Given the description of an element on the screen output the (x, y) to click on. 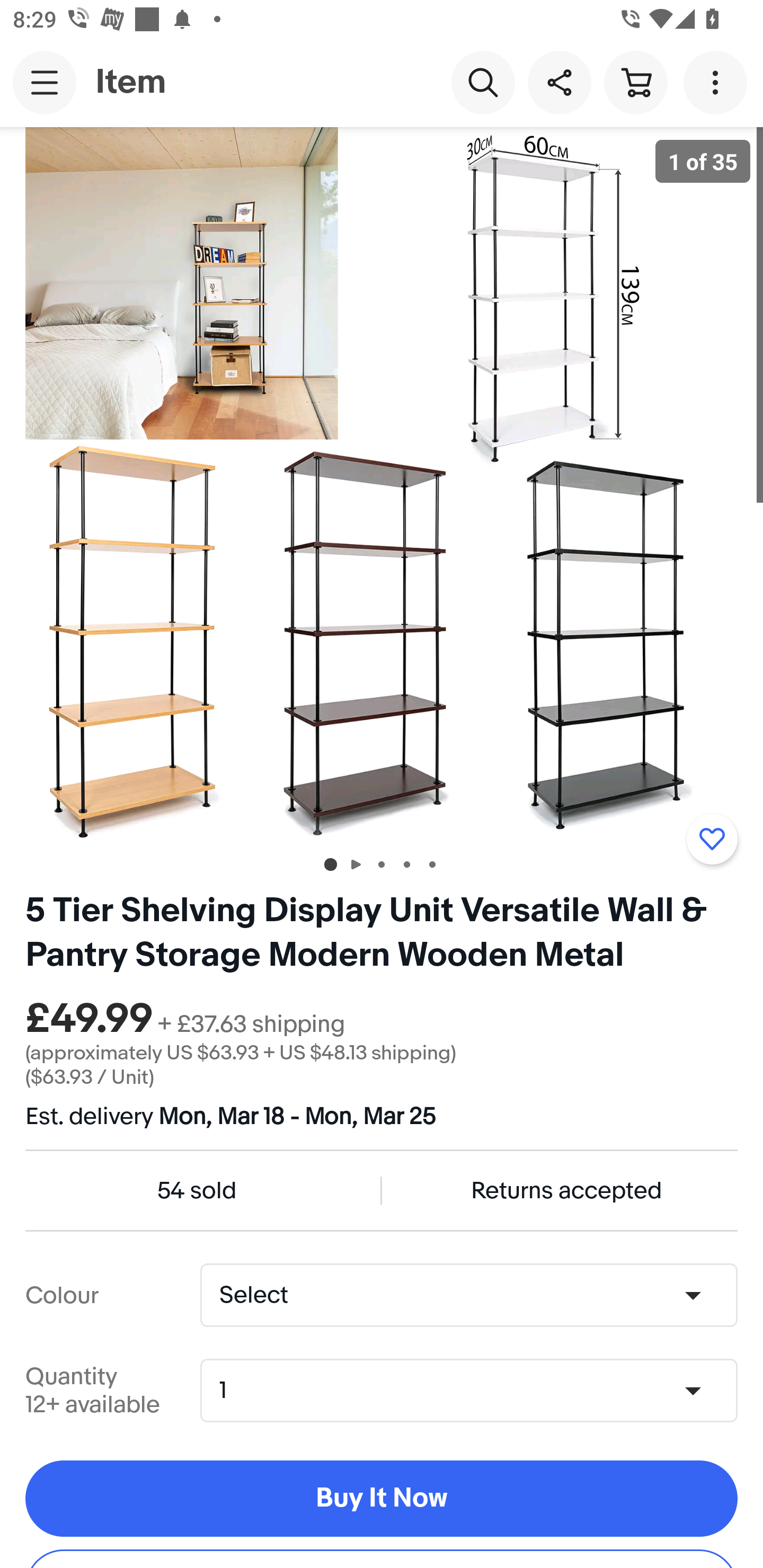
Main navigation, open (44, 82)
Search (482, 81)
Share this item (559, 81)
Cart button shopping cart (635, 81)
More options (718, 81)
Item image 1 of 35 (381, 482)
Add to watchlist (711, 838)
Colour,No selection Select (468, 1294)
Quantity,1,12+ available 1 (474, 1390)
Buy It Now (381, 1497)
